Given the description of an element on the screen output the (x, y) to click on. 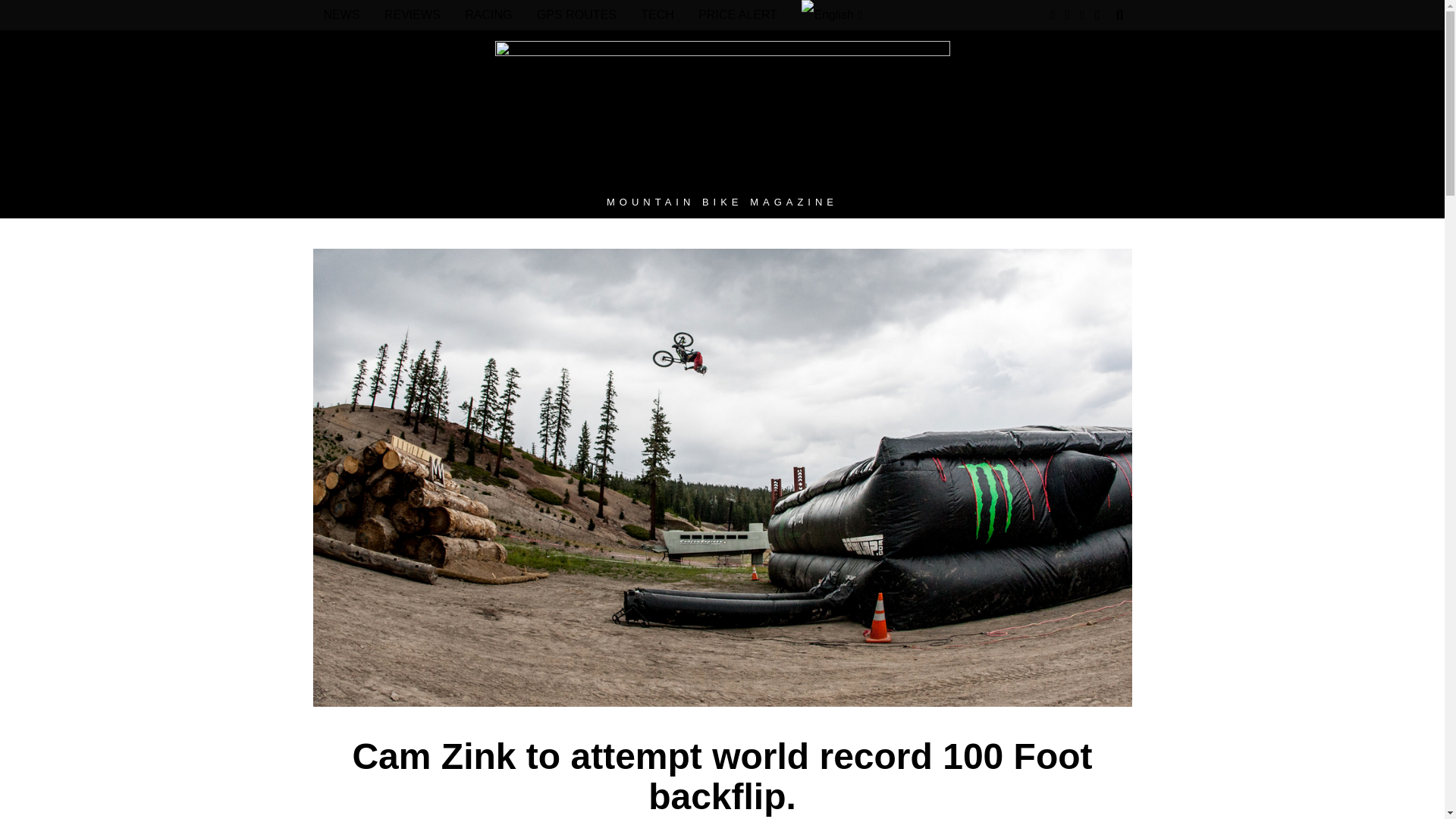
GPS ROUTES (576, 15)
TECH (657, 15)
RACING (488, 15)
REVIEWS (412, 15)
NEWS (341, 15)
PRICE ALERT (737, 15)
